Given the description of an element on the screen output the (x, y) to click on. 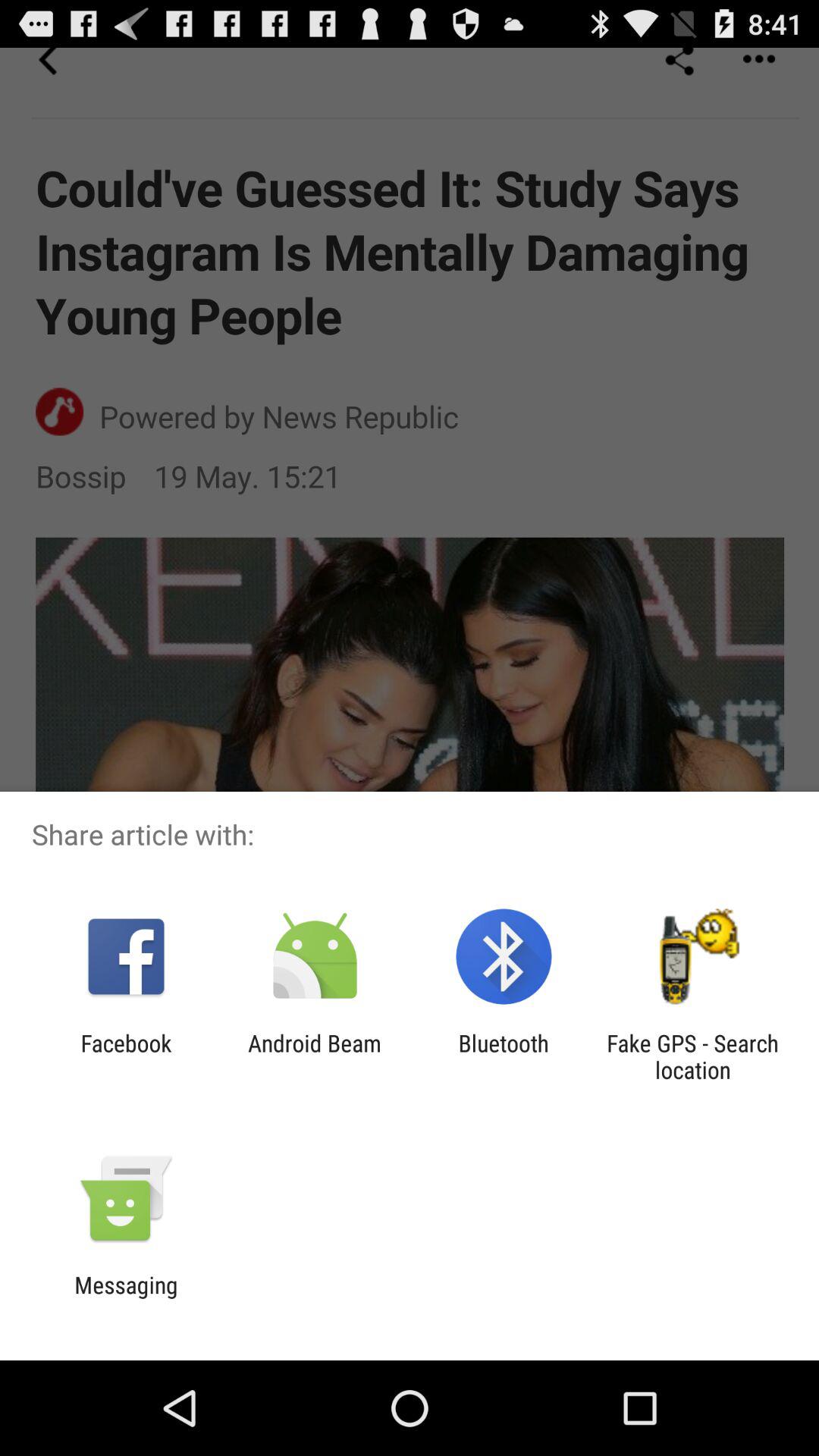
turn on the icon next to the bluetooth item (692, 1056)
